Given the description of an element on the screen output the (x, y) to click on. 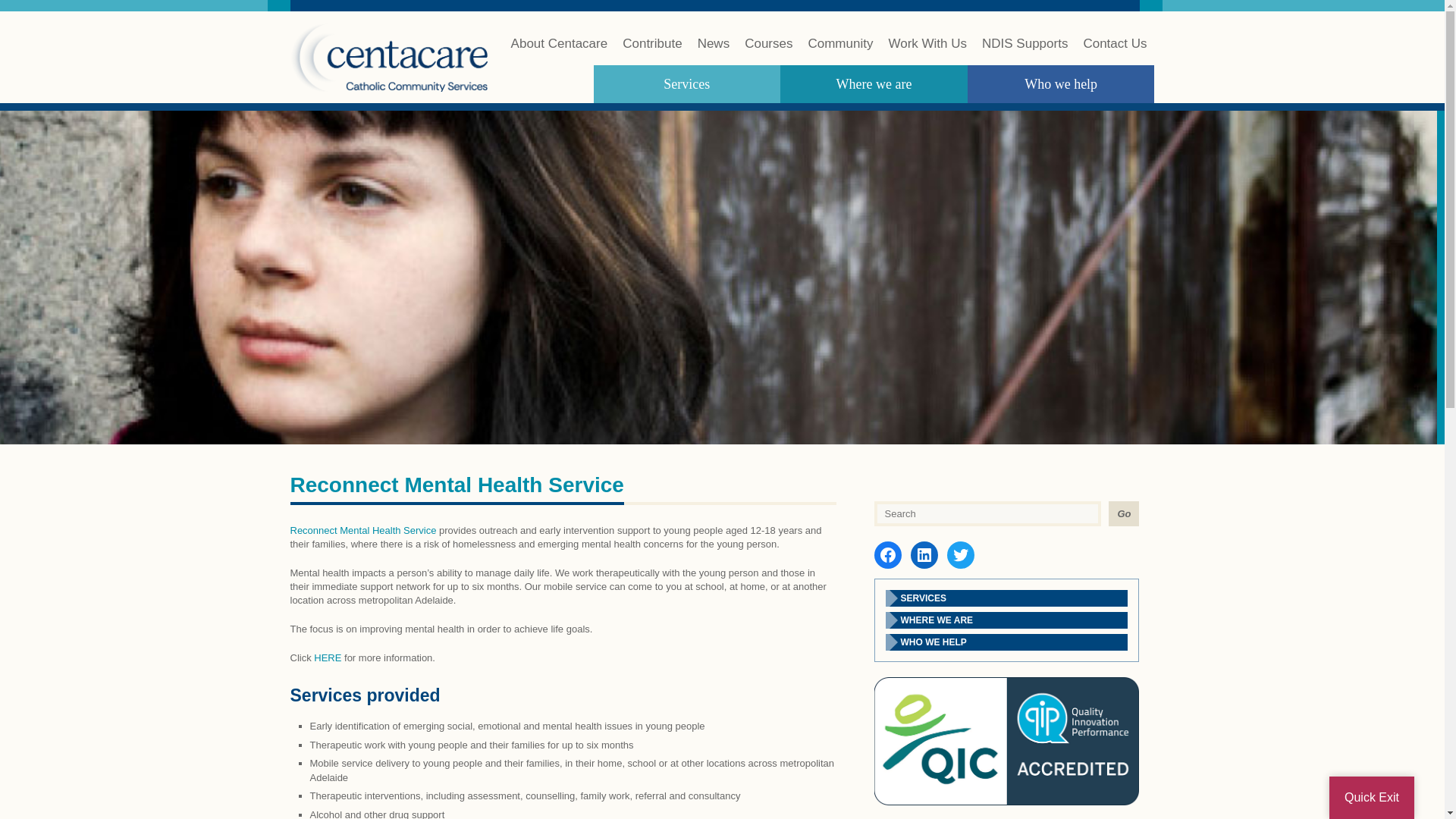
Courses (768, 50)
Contact Us (1115, 50)
Work With Us (927, 50)
NDIS Supports (1024, 50)
About Centacare (559, 50)
News (713, 50)
NDIS Supports (1024, 50)
Community (840, 50)
Contribute (652, 50)
Services (686, 84)
